Given the description of an element on the screen output the (x, y) to click on. 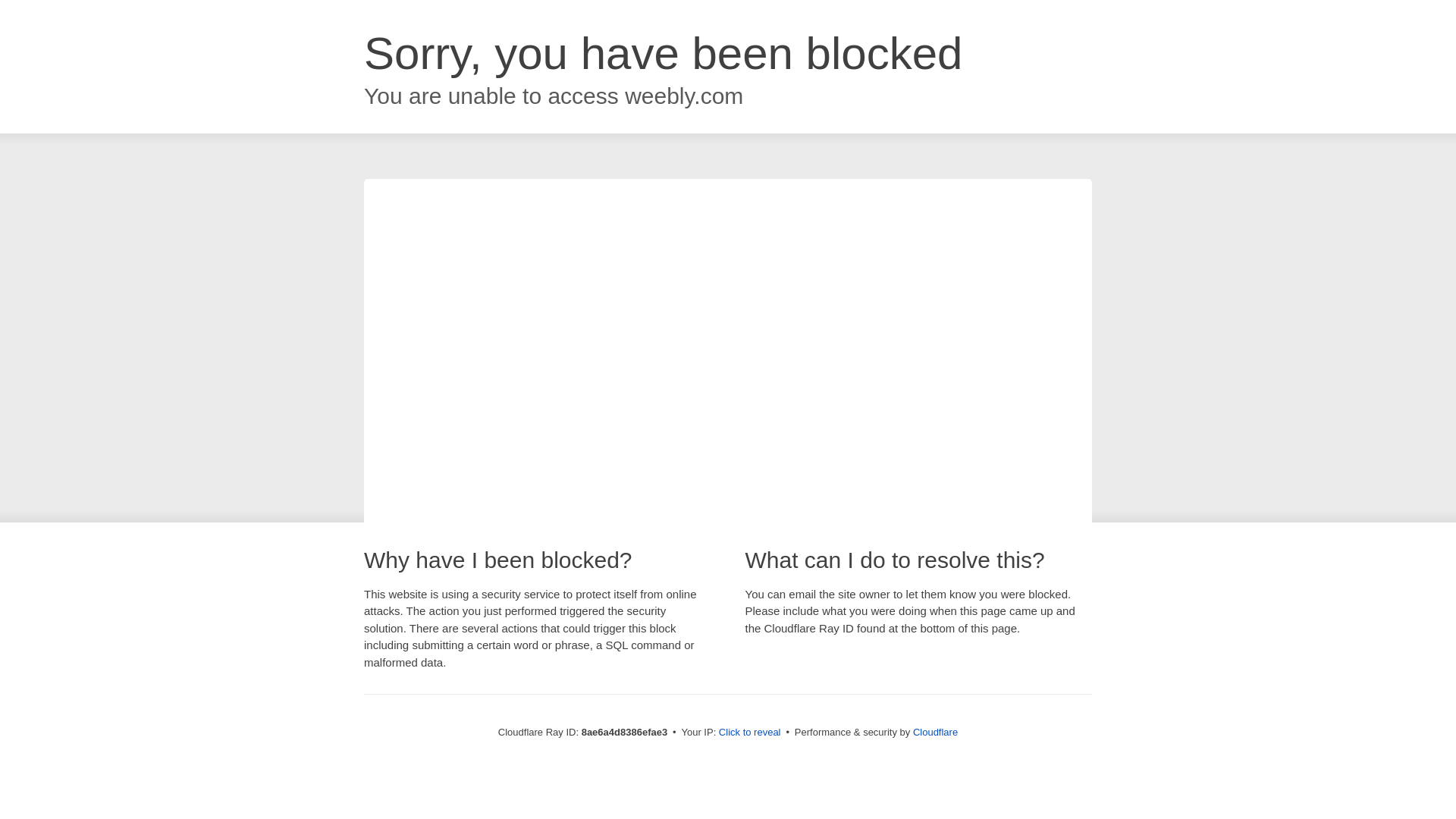
Click to reveal (749, 732)
Cloudflare (935, 731)
